Given the description of an element on the screen output the (x, y) to click on. 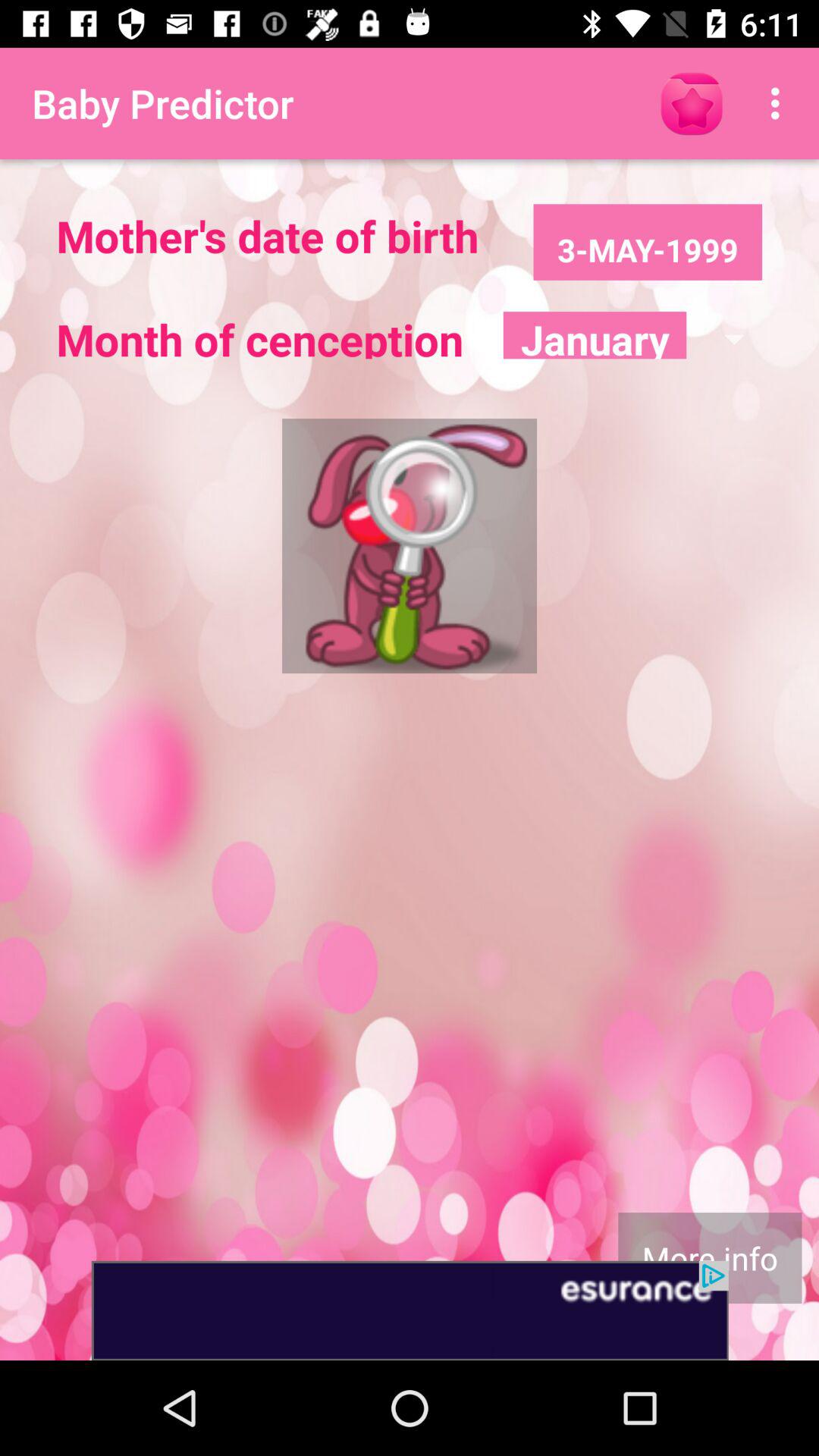
advertisement page (409, 1310)
